Given the description of an element on the screen output the (x, y) to click on. 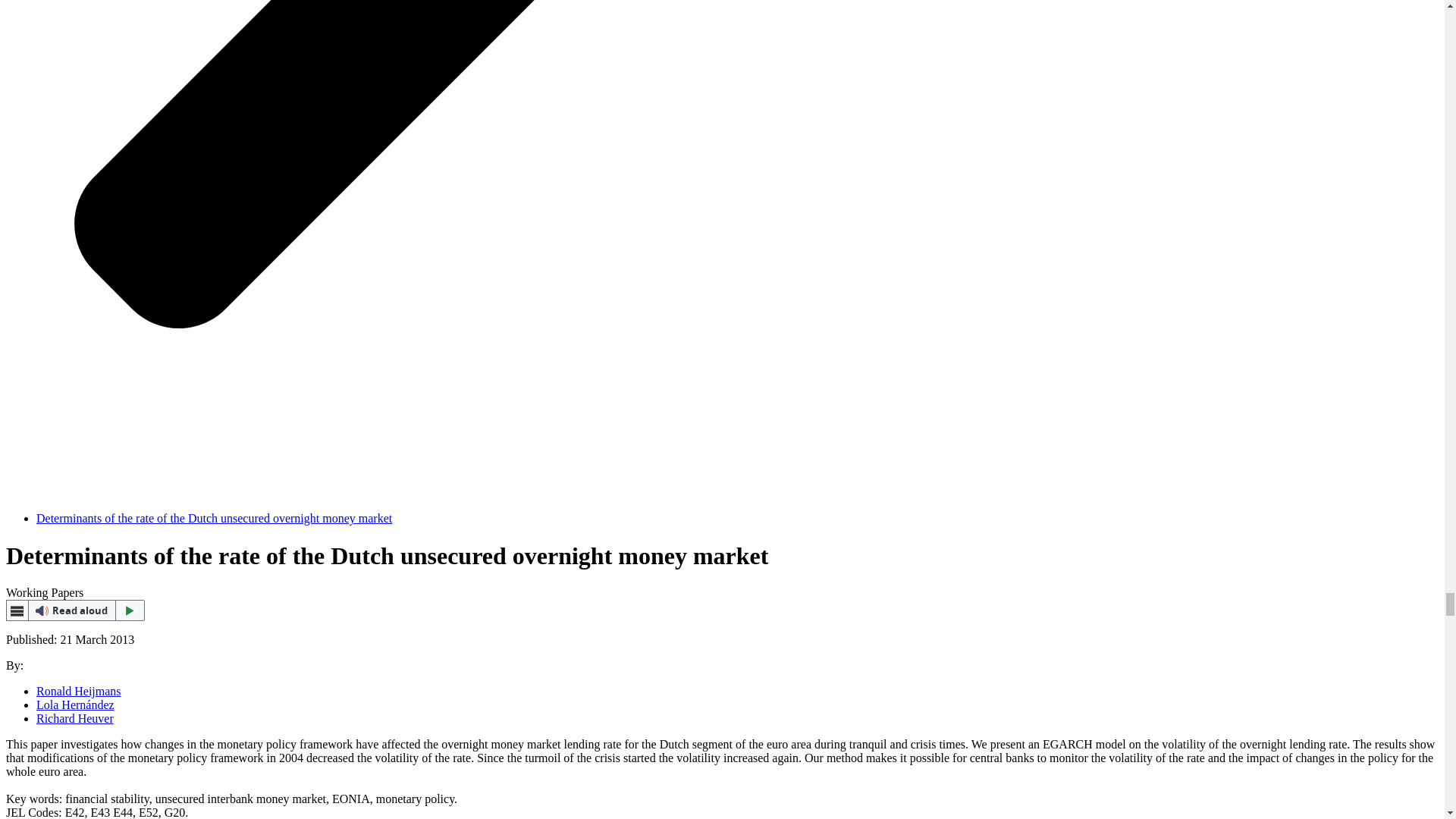
Read out aloud (74, 609)
webReader menu (17, 609)
